Given the description of an element on the screen output the (x, y) to click on. 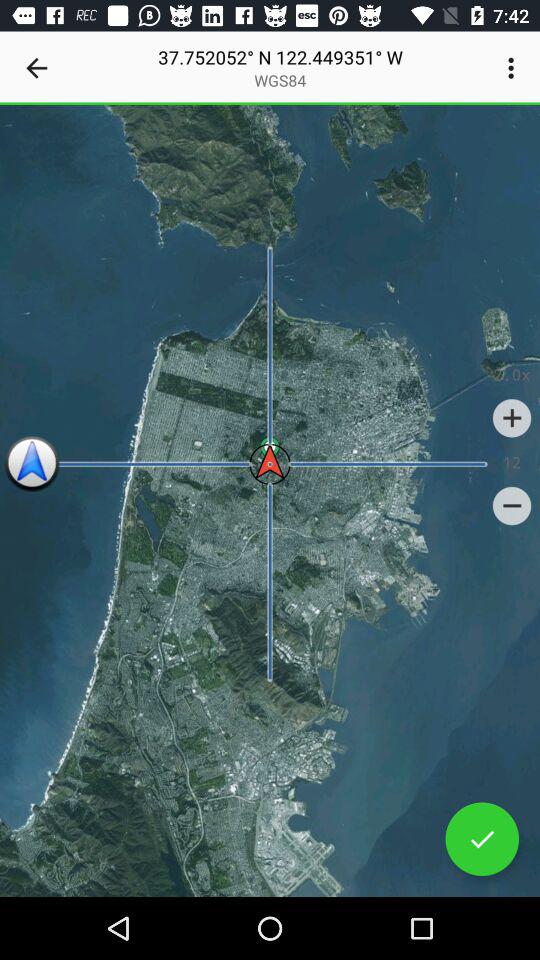
select the icon next to 37 752052 n item (36, 67)
